Given the description of an element on the screen output the (x, y) to click on. 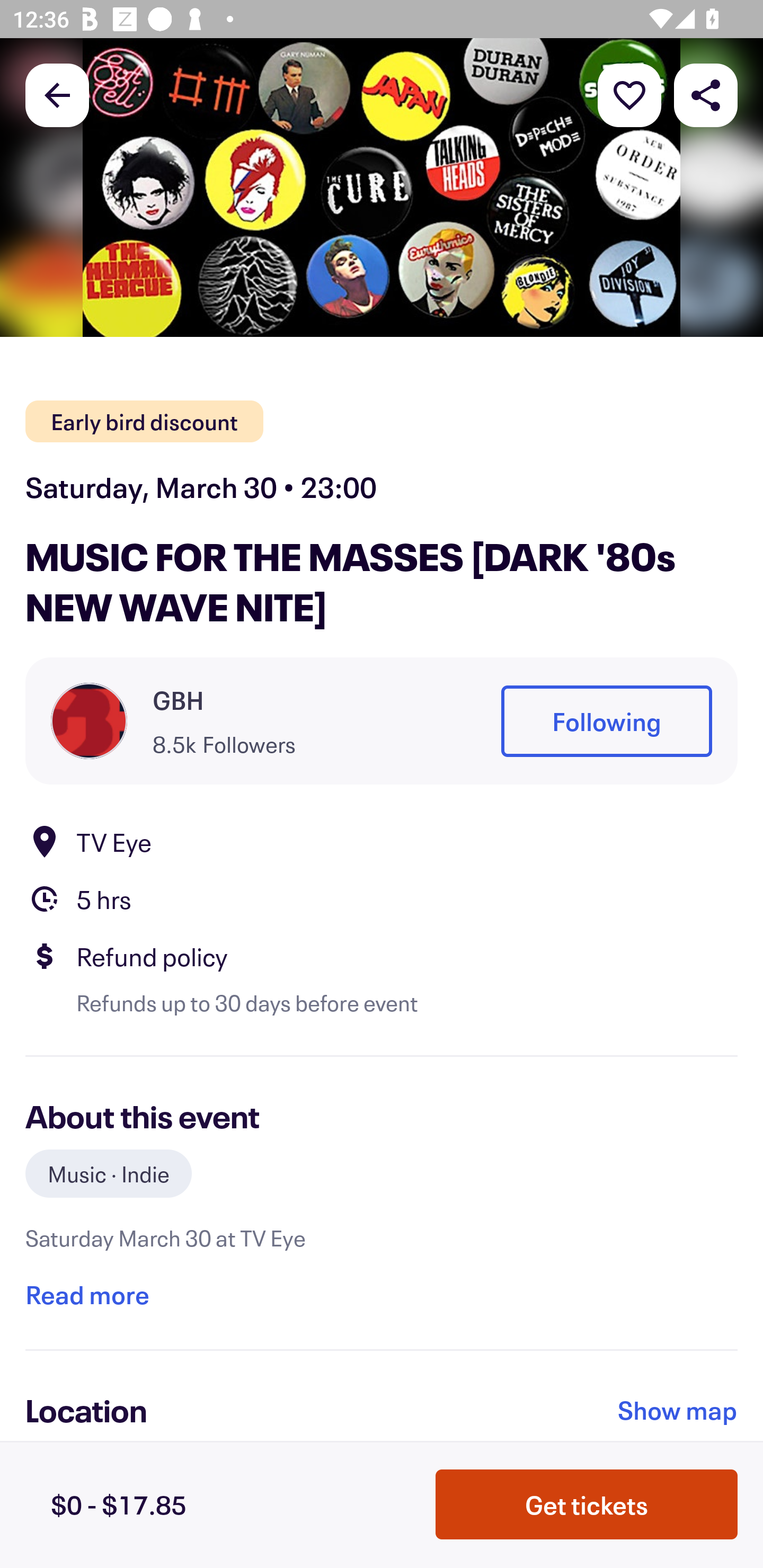
Back (57, 94)
More (629, 94)
Share (705, 94)
Early bird discount (144, 421)
GBH (178, 699)
Organizer profile picture (89, 720)
Following (606, 720)
Location TV Eye (381, 840)
Read more (87, 1293)
Show map (677, 1410)
Get tickets (586, 1504)
